Given the description of an element on the screen output the (x, y) to click on. 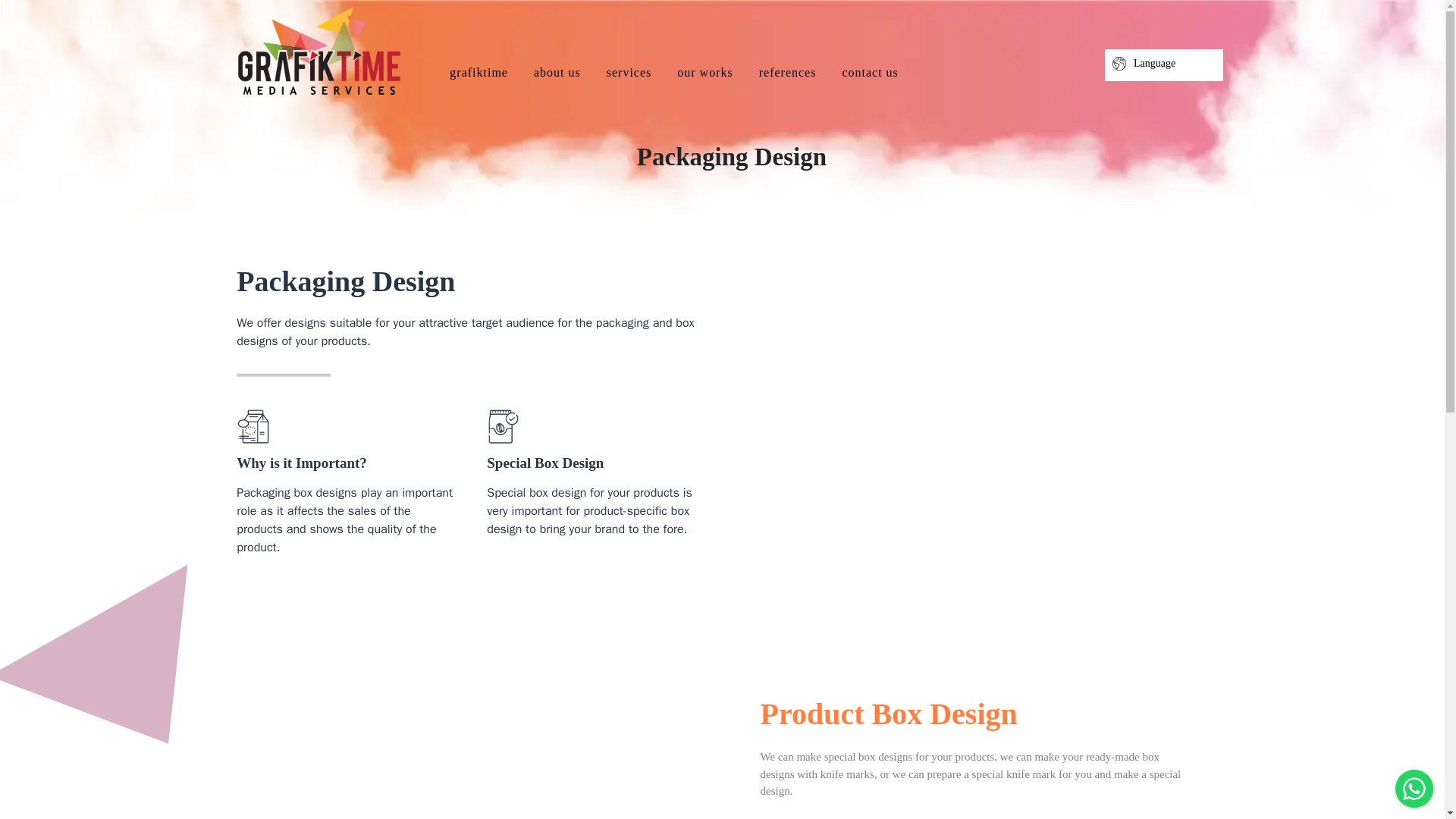
about us (556, 71)
grafiktime (478, 71)
Language (1163, 63)
Product Box Design (471, 696)
about us (556, 71)
our works (704, 71)
our works (704, 71)
services (628, 71)
services (628, 71)
Grafik Time Media Services (317, 51)
